Given the description of an element on the screen output the (x, y) to click on. 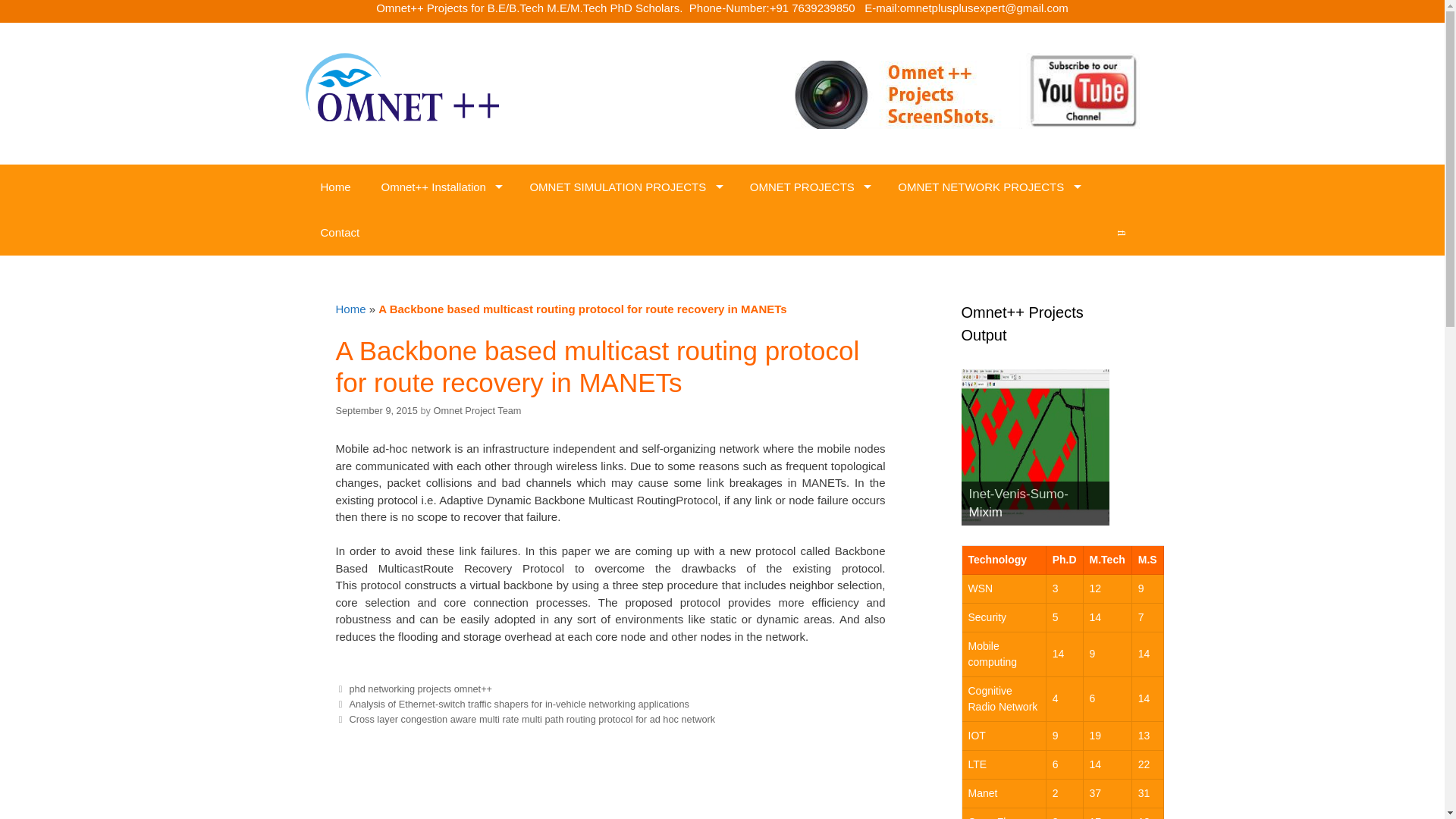
12:52 pm (375, 410)
Skip to content (37, 31)
omnetplusplus.com (400, 87)
Skip to content (37, 31)
Previous (511, 704)
Home (334, 186)
Inet-Venis-Sumo-Mixim (1034, 444)
OMNET SIMULATION PROJECTS (623, 186)
Contact (339, 231)
OMNET PROJECTS (809, 186)
